Given the description of an element on the screen output the (x, y) to click on. 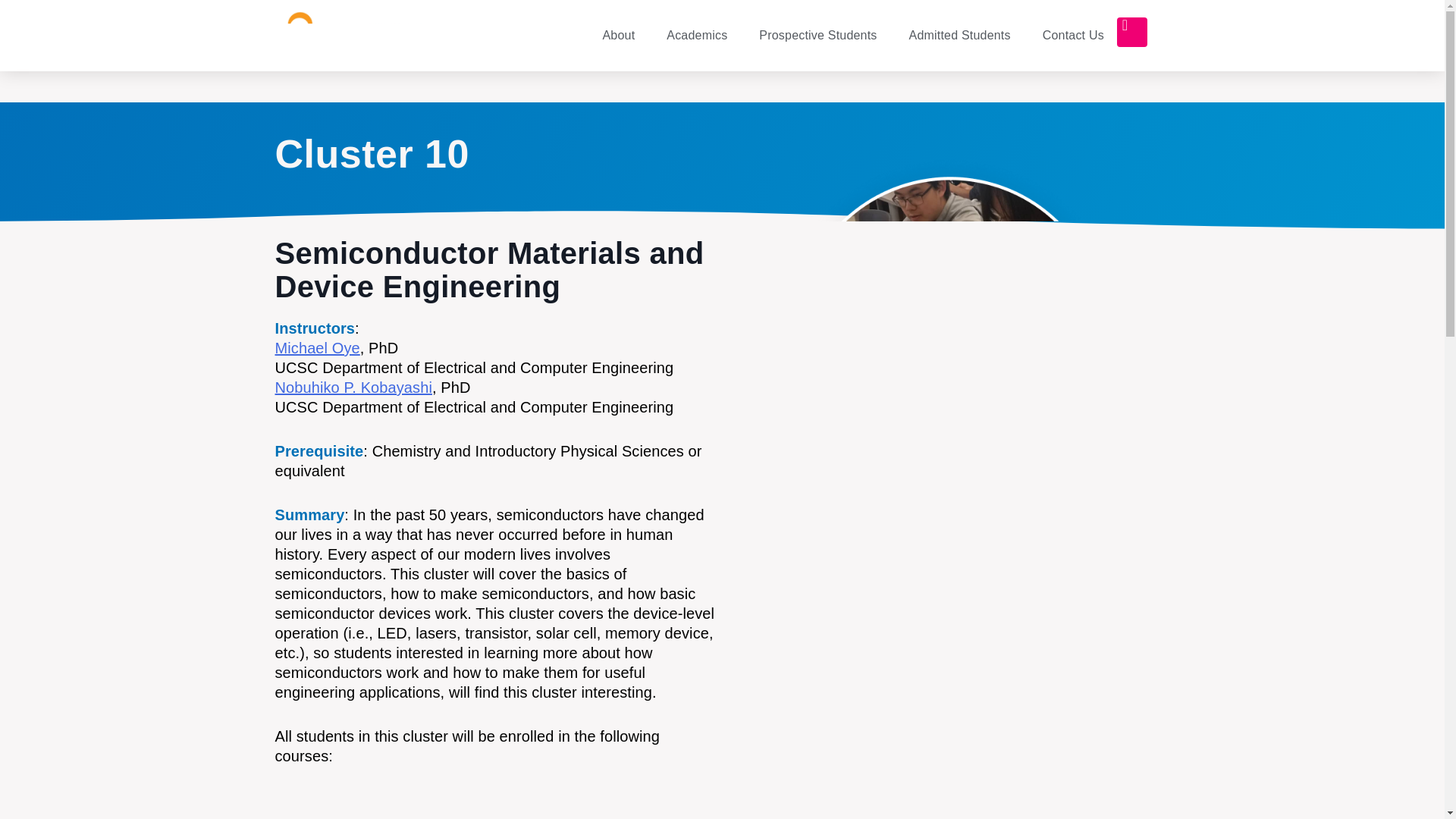
Academics (696, 35)
Prospective Students (817, 35)
Contact Us (1073, 35)
Admitted Students (959, 35)
